Given the description of an element on the screen output the (x, y) to click on. 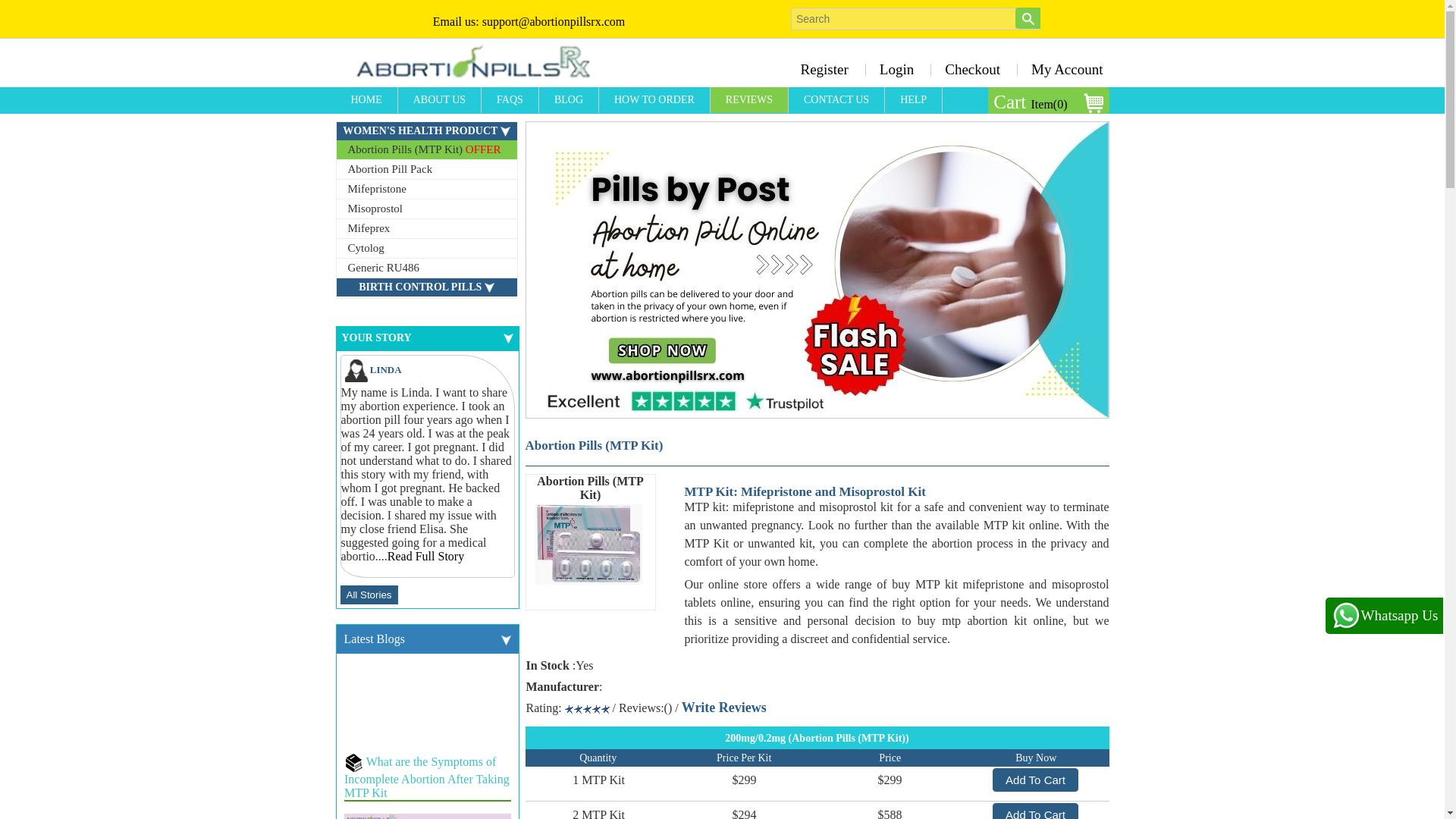
FAQS (509, 99)
ABOUT US (439, 99)
All Stories (368, 594)
Mifeprex (426, 229)
Checkout (972, 68)
Read Full Story (425, 555)
BLOG (568, 99)
Abortion Pill Pack (426, 169)
CONTACT US (837, 99)
Login (896, 68)
Mifepristone (426, 189)
Cytolog (426, 248)
Misoprostol (426, 209)
My Account (1062, 68)
REVIEWS (749, 99)
